Given the description of an element on the screen output the (x, y) to click on. 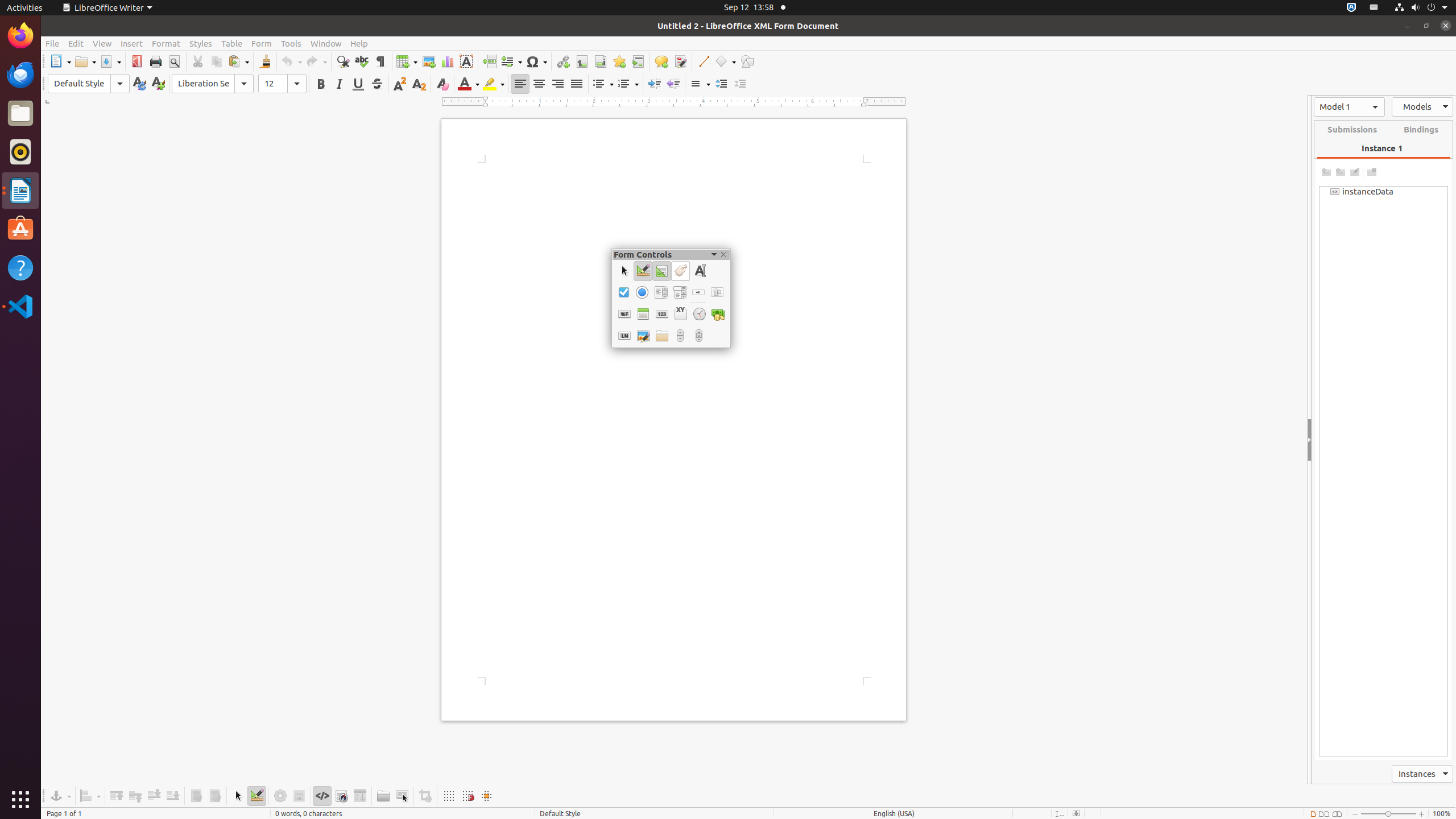
Group Box Element type: toggle-button (680, 314)
Formatted Field Element type: toggle-button (623, 314)
LibreOffice Writer Element type: push-button (20, 190)
Check Box Element type: push-button (623, 292)
Help Element type: push-button (20, 267)
